Given the description of an element on the screen output the (x, y) to click on. 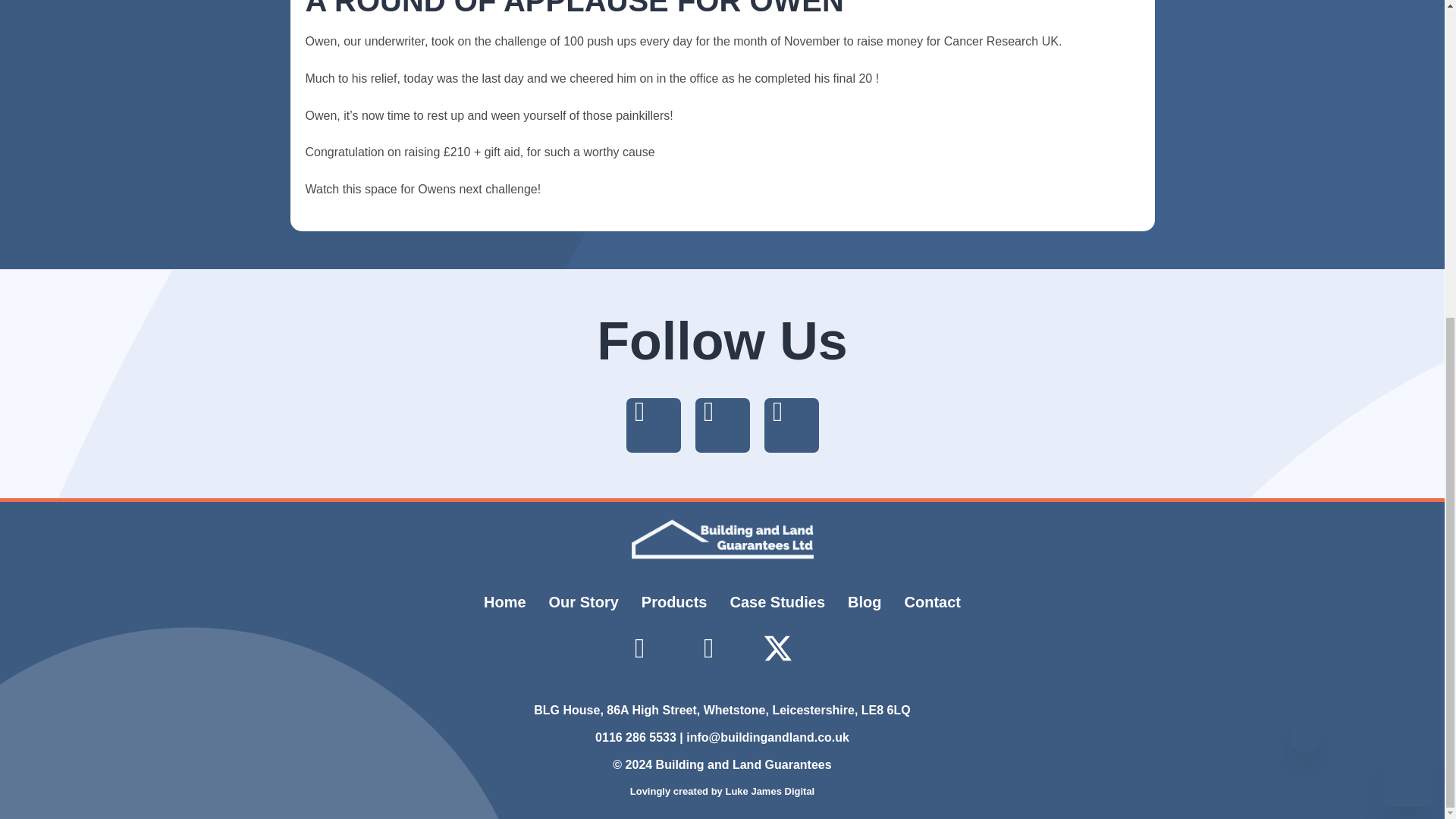
Our Story (583, 601)
Home (504, 601)
Case Studies (778, 601)
Contact (932, 601)
Products (674, 601)
Blog (863, 601)
